Given the description of an element on the screen output the (x, y) to click on. 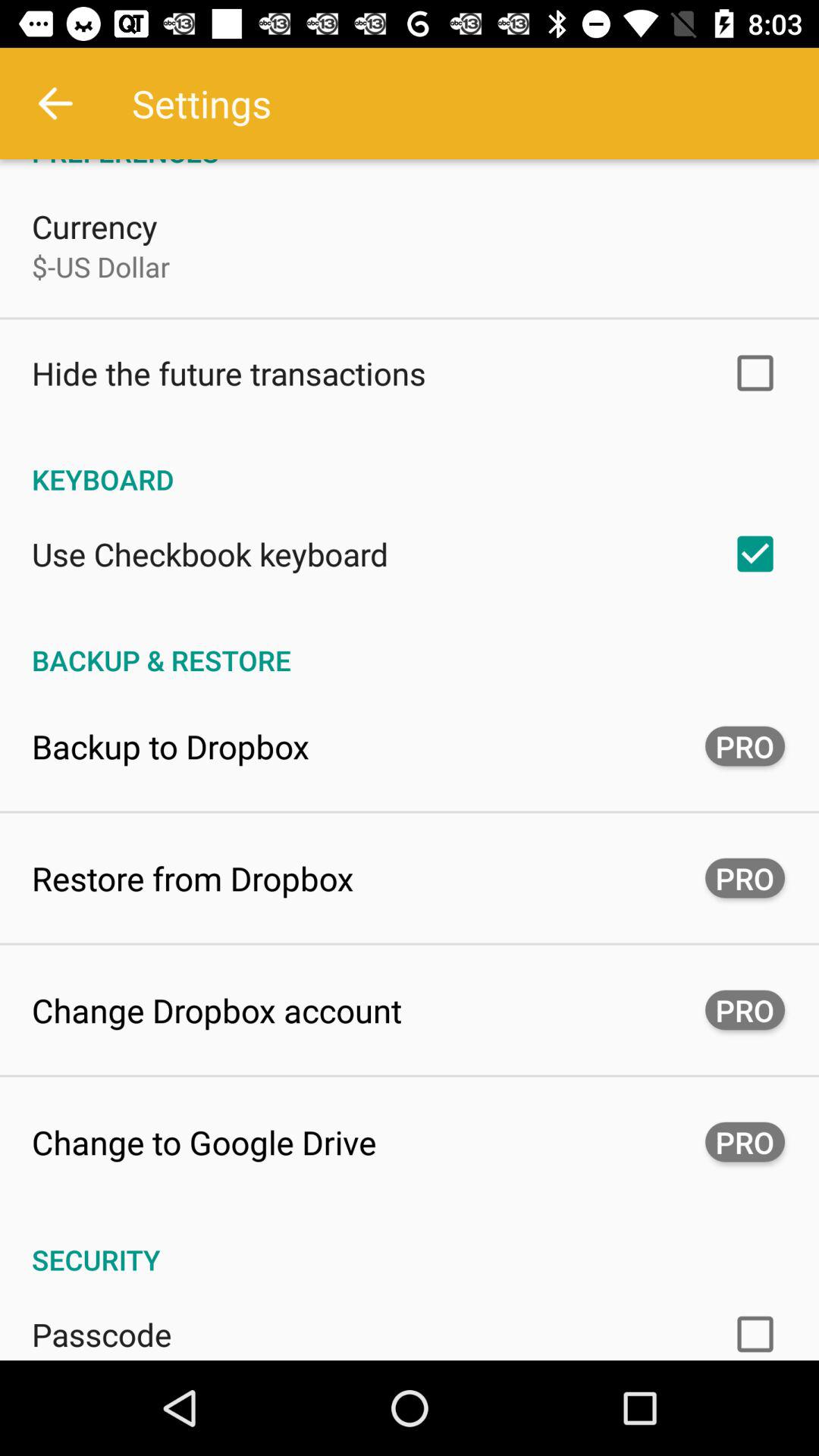
tap the item next to the pro icon (170, 746)
